Given the description of an element on the screen output the (x, y) to click on. 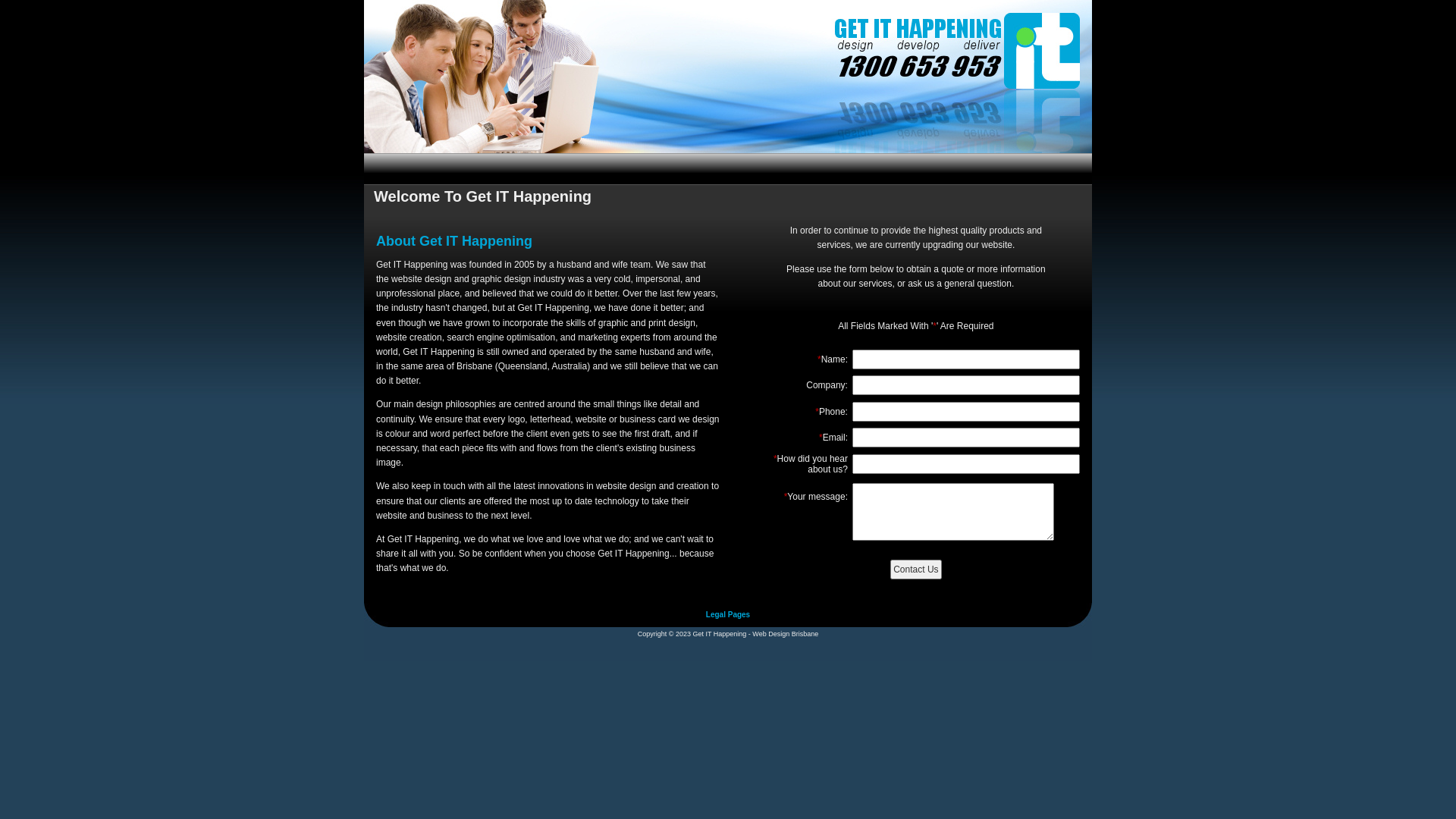
Contact Us Element type: text (915, 569)
Legal Pages Element type: text (727, 614)
